Given the description of an element on the screen output the (x, y) to click on. 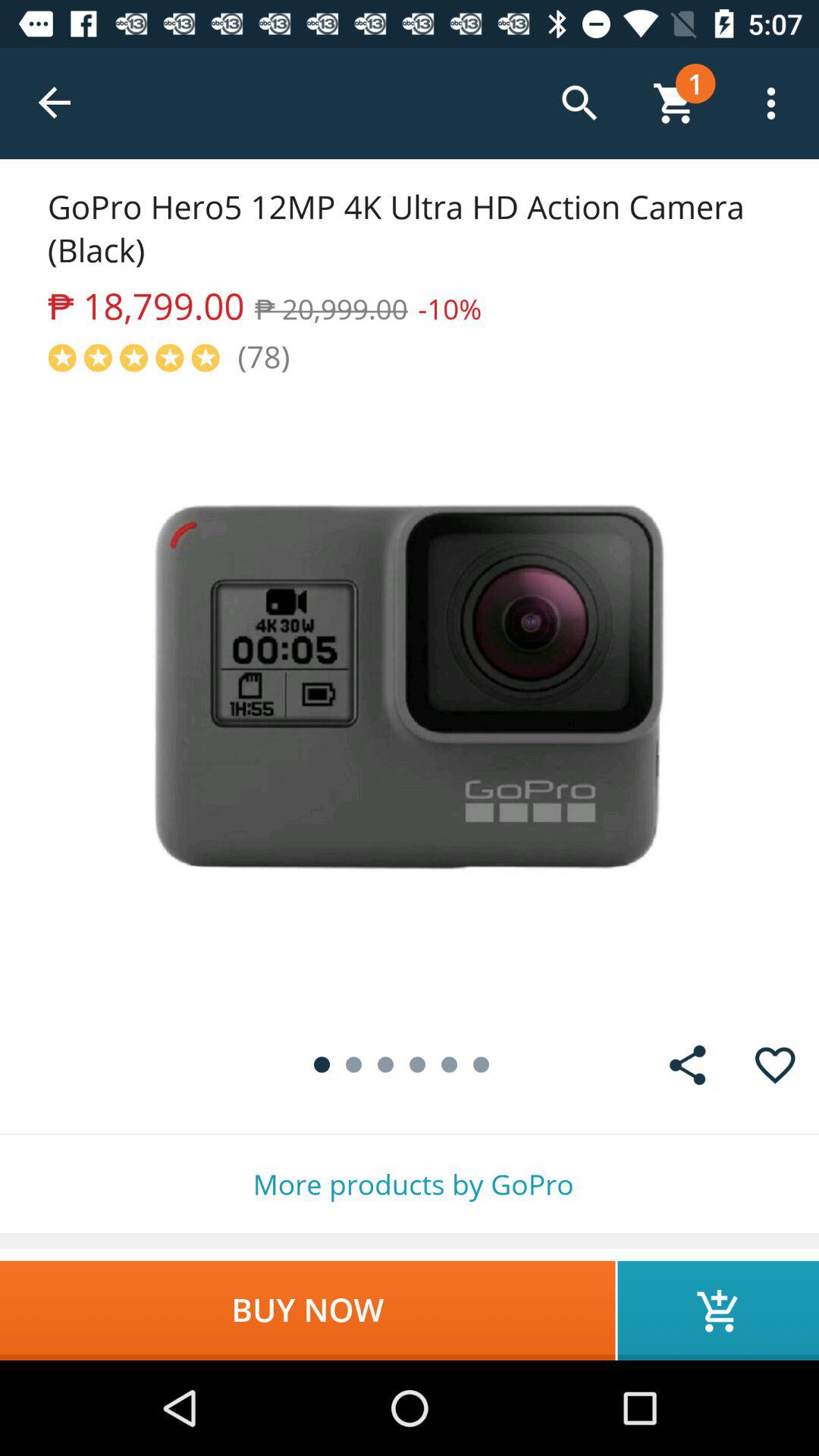
save gallary (687, 1065)
